Given the description of an element on the screen output the (x, y) to click on. 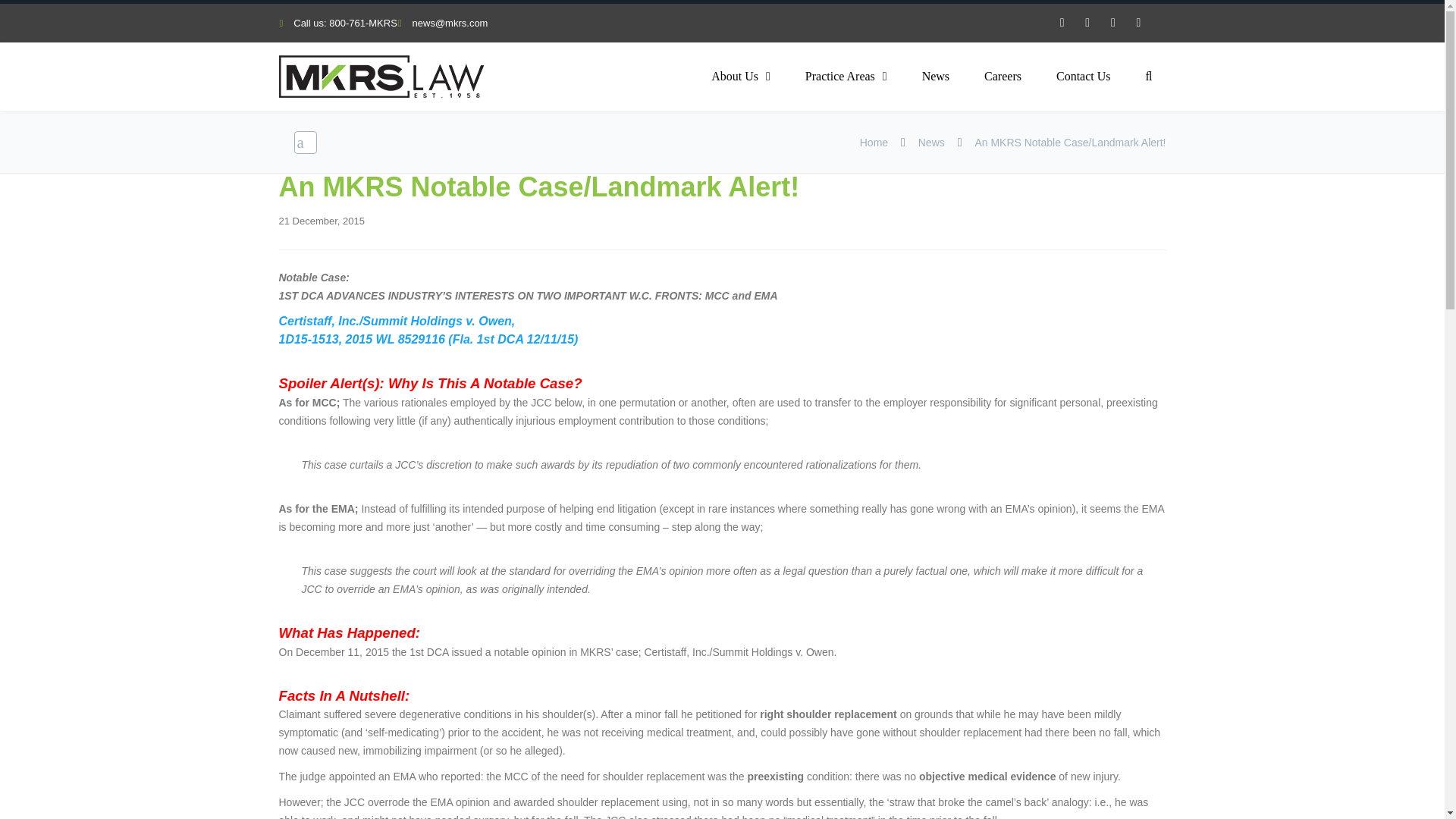
News (935, 76)
Home (874, 142)
Practice Areas (845, 76)
Careers (1002, 76)
News (931, 142)
MKRS Law (381, 76)
About Us (740, 76)
Contact Us (1083, 76)
